Given the description of an element on the screen output the (x, y) to click on. 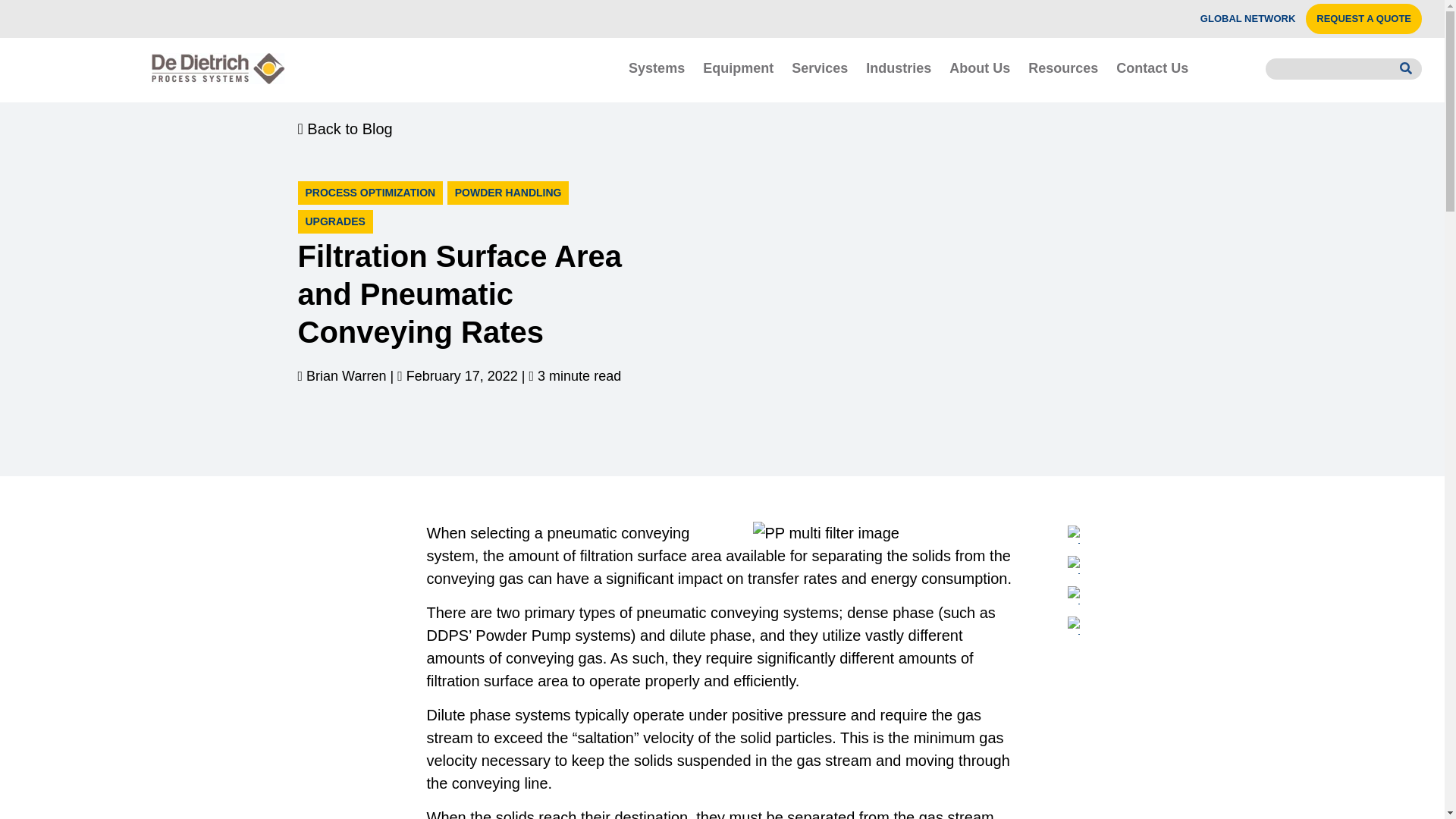
ddps-logo-md (218, 68)
REQUEST A QUOTE (1364, 19)
GLOBAL NETWORK (1247, 19)
Systems (657, 67)
Equipment (738, 67)
